Given the description of an element on the screen output the (x, y) to click on. 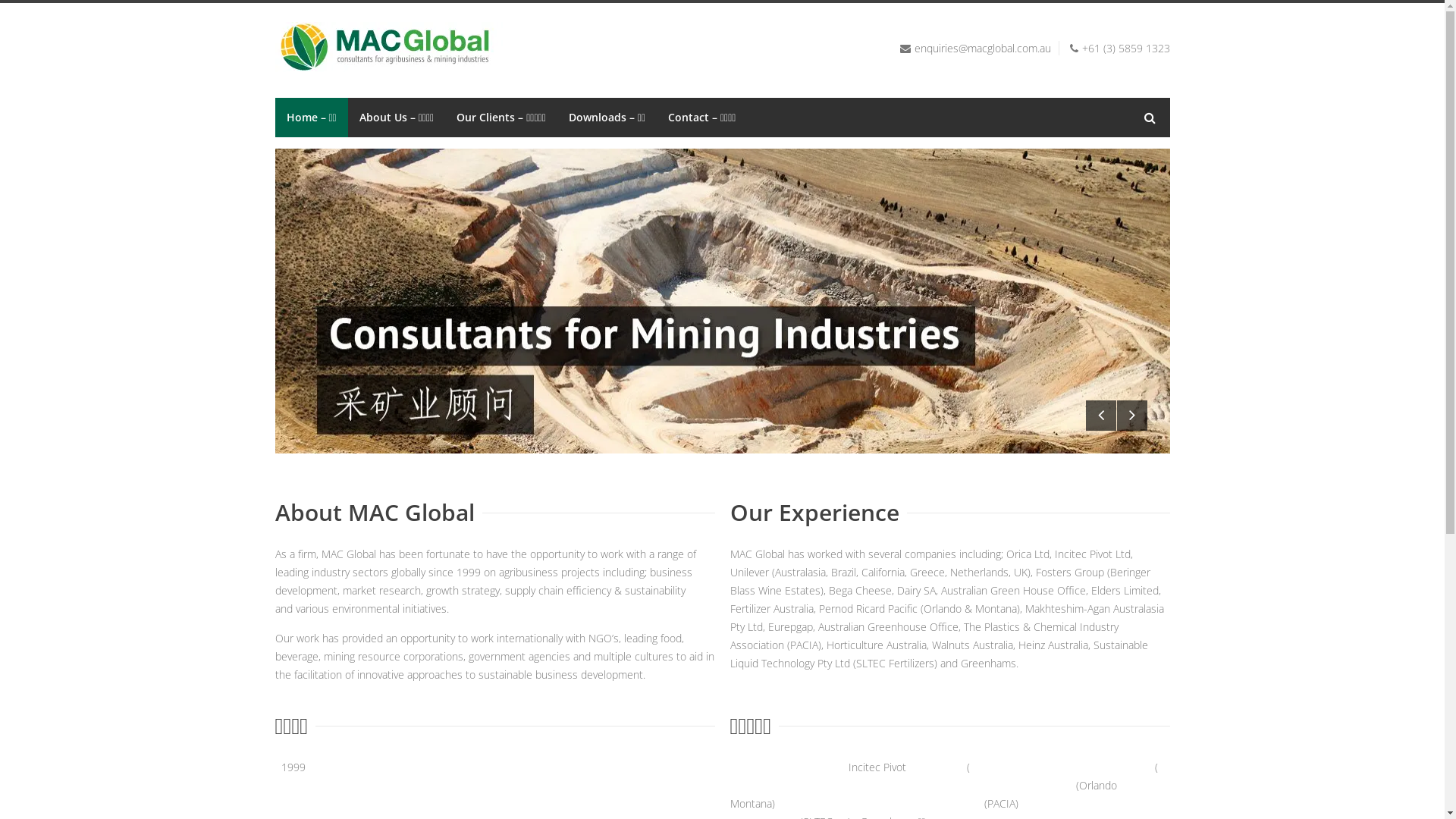
enquiries@macglobal.com.au Element type: text (982, 47)
